Given the description of an element on the screen output the (x, y) to click on. 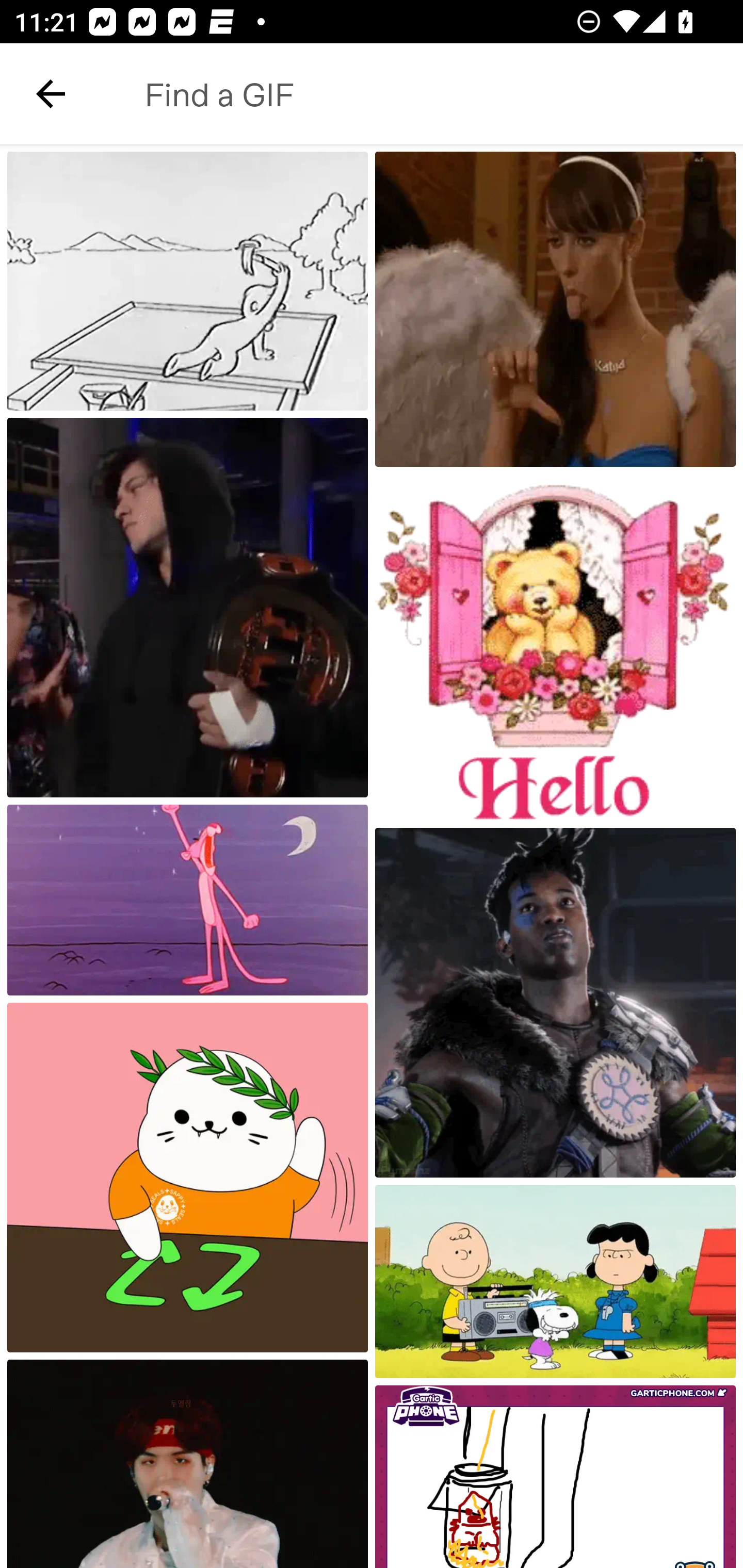
Navigate up (50, 93)
Find a GIF (422, 93)
